Given the description of an element on the screen output the (x, y) to click on. 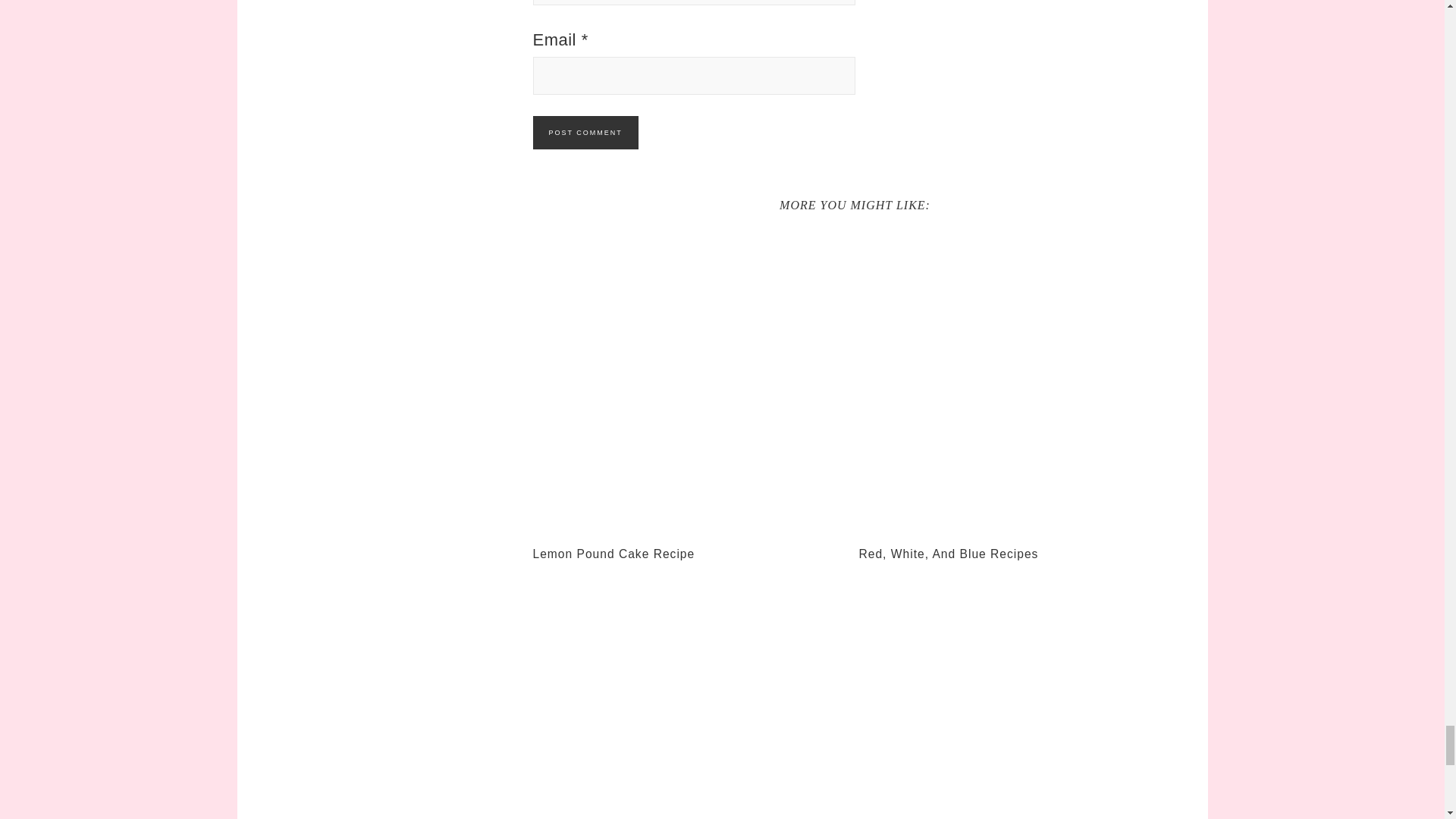
Post Comment (584, 132)
